Given the description of an element on the screen output the (x, y) to click on. 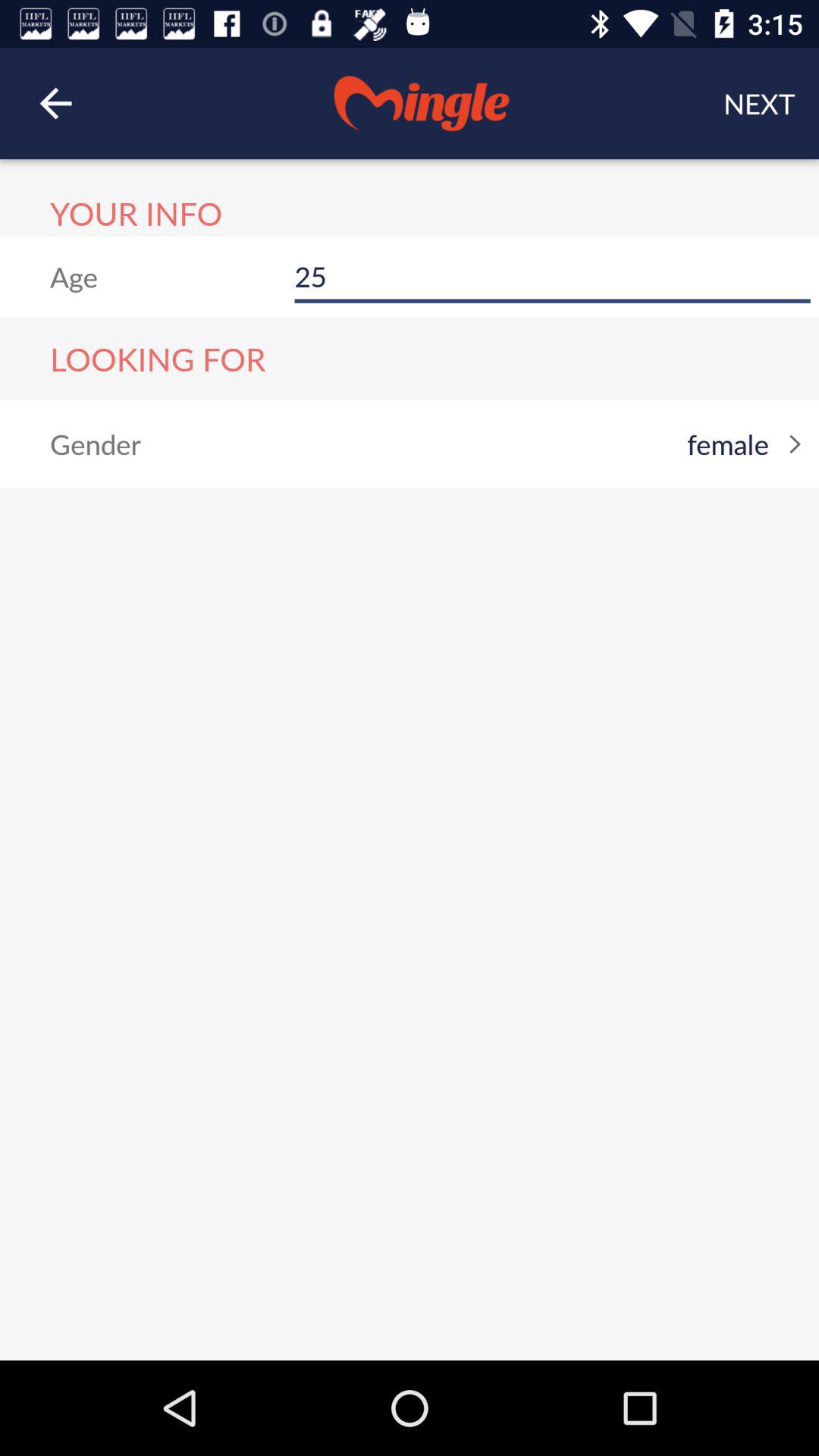
turn off 25 (552, 276)
